Given the description of an element on the screen output the (x, y) to click on. 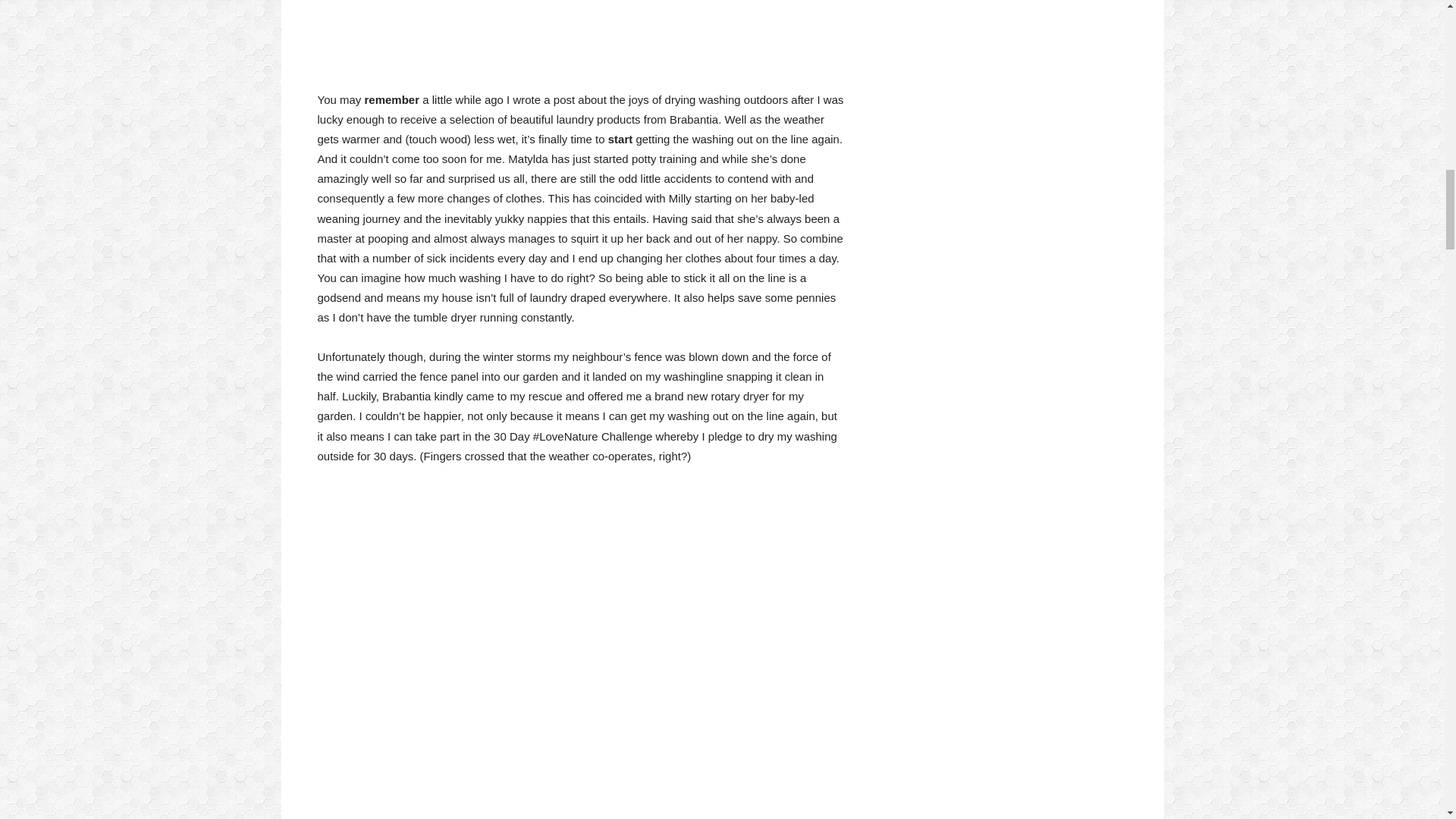
Advertisement (580, 812)
